Given the description of an element on the screen output the (x, y) to click on. 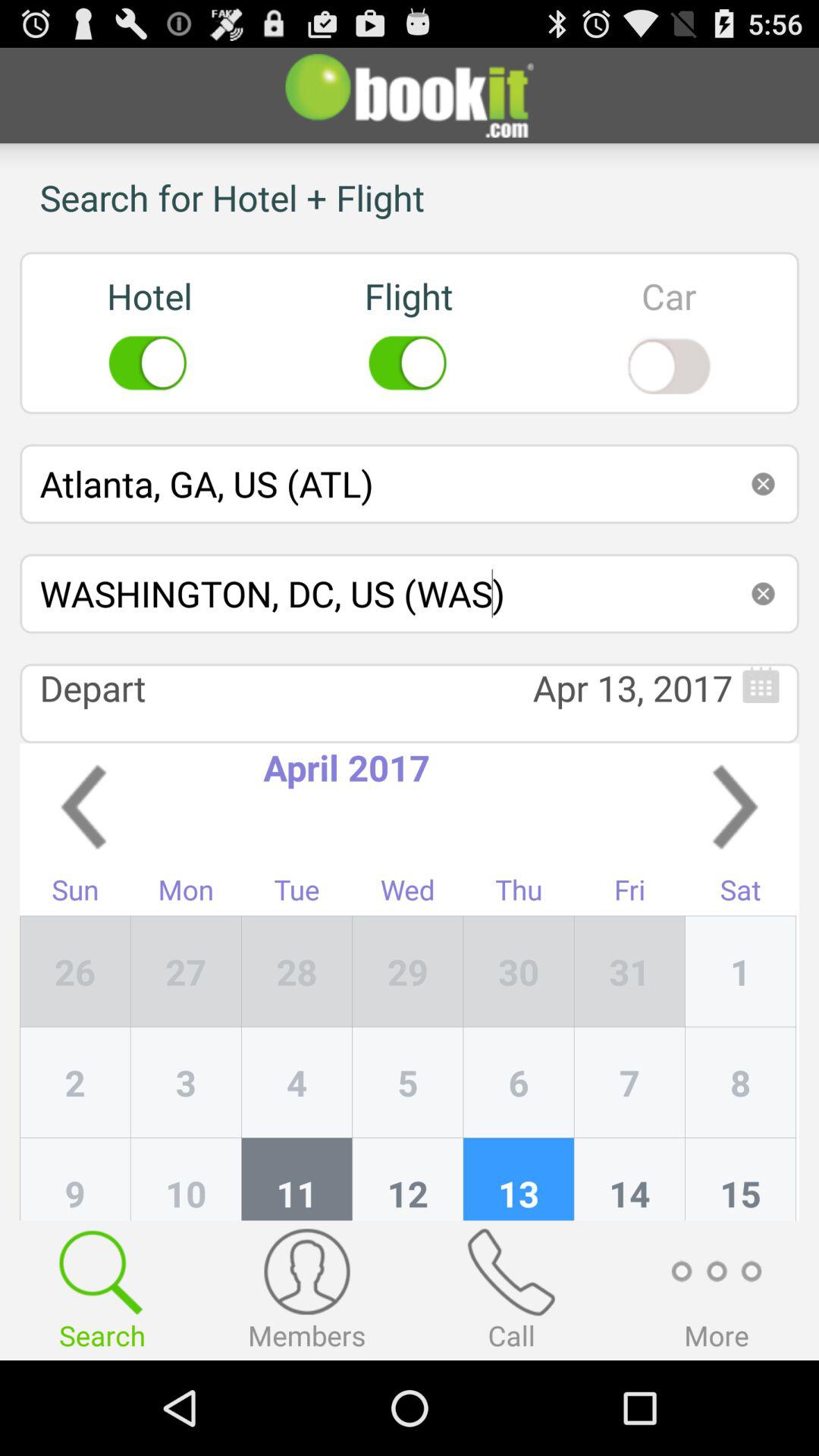
flip to fri app (629, 893)
